Given the description of an element on the screen output the (x, y) to click on. 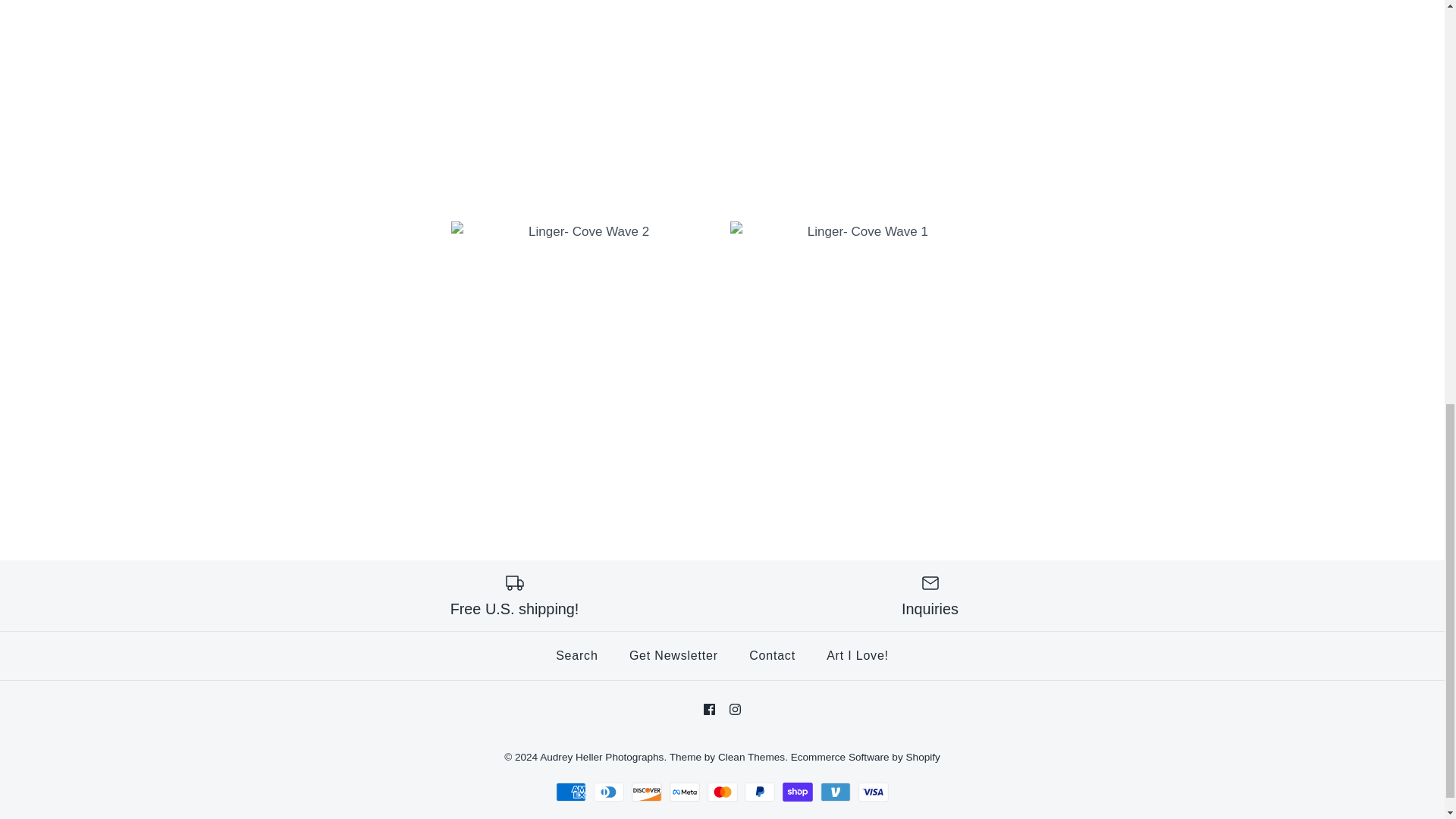
Discover (646, 791)
Instagram (735, 708)
Venmo (835, 791)
Mastercard (721, 791)
Shop Pay (797, 791)
Diners Club (609, 791)
Facebook (708, 708)
PayPal (759, 791)
Meta Pay (684, 791)
American Express (571, 791)
